Given the description of an element on the screen output the (x, y) to click on. 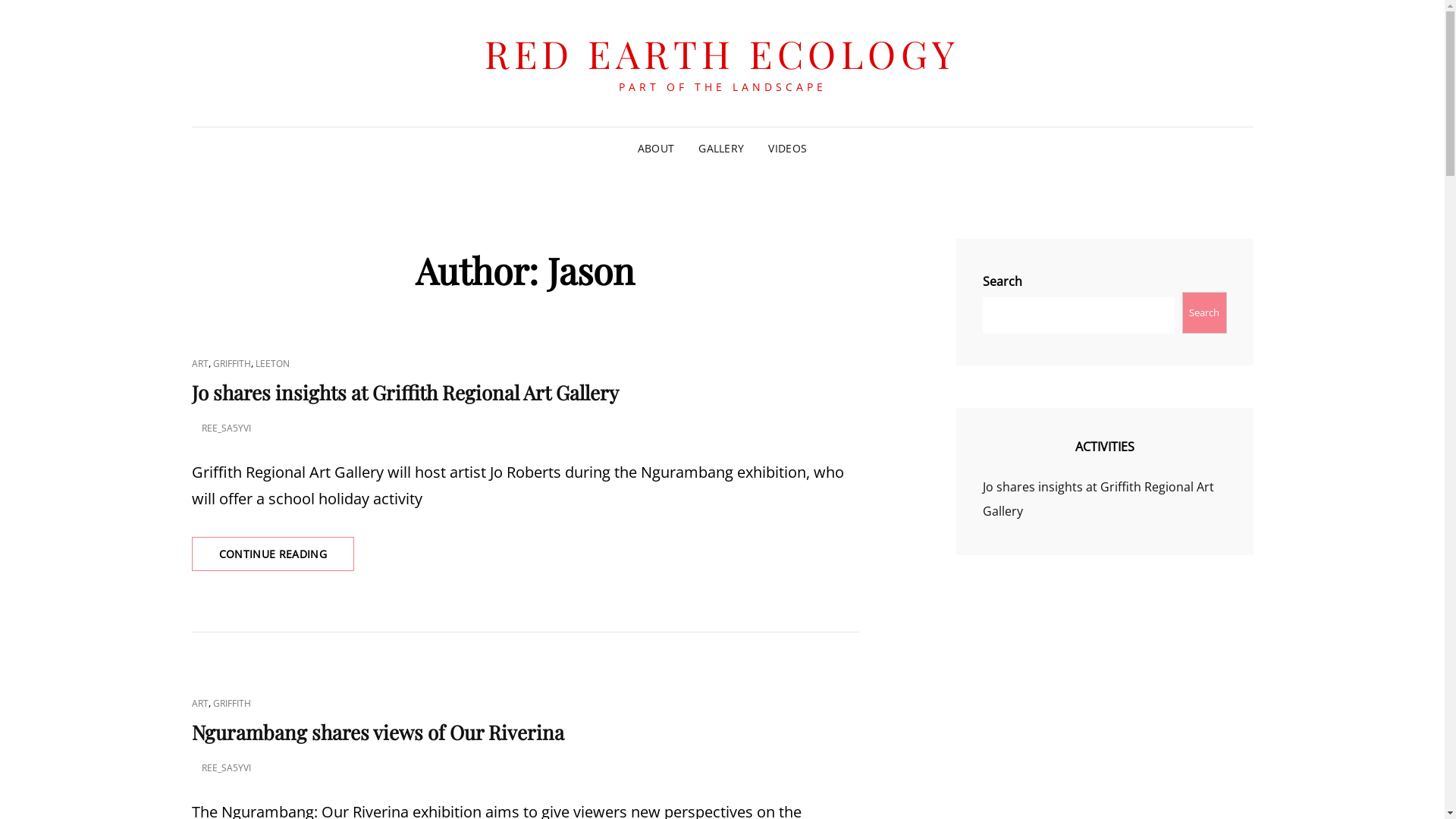
ART Element type: text (199, 702)
Search Element type: text (1204, 311)
GALLERY Element type: text (721, 148)
LEETON Element type: text (271, 363)
Jo shares insights at Griffith Regional Art Gallery Element type: text (1098, 498)
REE_SA5YVI Element type: text (226, 767)
VIDEOS Element type: text (787, 148)
GRIFFITH Element type: text (231, 363)
GRIFFITH Element type: text (231, 702)
ART Element type: text (199, 363)
REE_SA5YVI Element type: text (226, 427)
Jo shares insights at Griffith Regional Art Gallery Element type: text (404, 392)
RED EARTH ECOLOGY Element type: text (722, 53)
ABOUT Element type: text (655, 148)
Ngurambang shares views of Our Riverina Element type: text (377, 731)
